Given the description of an element on the screen output the (x, y) to click on. 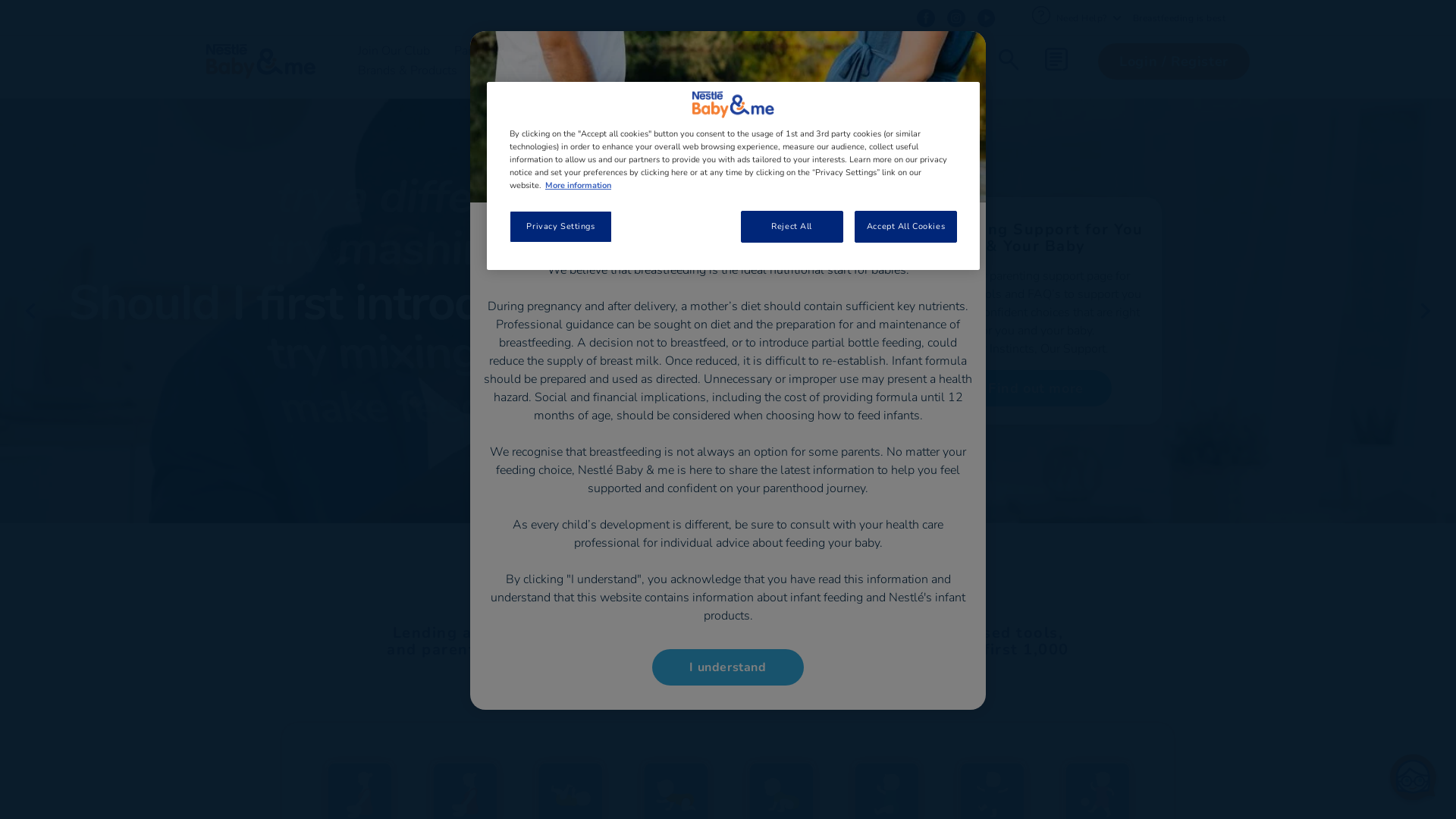
Need Help? Element type: text (1087, 17)
Search Element type: text (1107, 115)
2 Element type: text (715, 547)
youtube Element type: hover (985, 18)
Join Our Club Element type: text (393, 50)
Breastfeeding is best Element type: text (1179, 17)
I understand Element type: text (727, 667)
Partner Hub Element type: text (828, 50)
instagram Element type: hover (955, 18)
More information Element type: text (578, 184)
4 Element type: text (740, 547)
1 Element type: text (703, 547)
Search Element type: hover (1008, 61)
3 Element type: text (727, 547)
MyFeed Personalized Content Element type: hover (1055, 58)
Take a spin Element type: text (1035, 387)
Accept All Cookies Element type: text (905, 226)
Next Element type: text (1425, 310)
Company Logo Element type: hover (733, 104)
Reject All Element type: text (791, 226)
facebook Element type: hover (925, 18)
5 Element type: text (752, 547)
Previous Element type: text (30, 310)
FAQs Icon Element type: hover (1040, 15)
Skip to main content Element type: text (0, 0)
Privacy Settings Element type: text (560, 226)
Login / Register Element type: text (1173, 61)
